Given the description of an element on the screen output the (x, y) to click on. 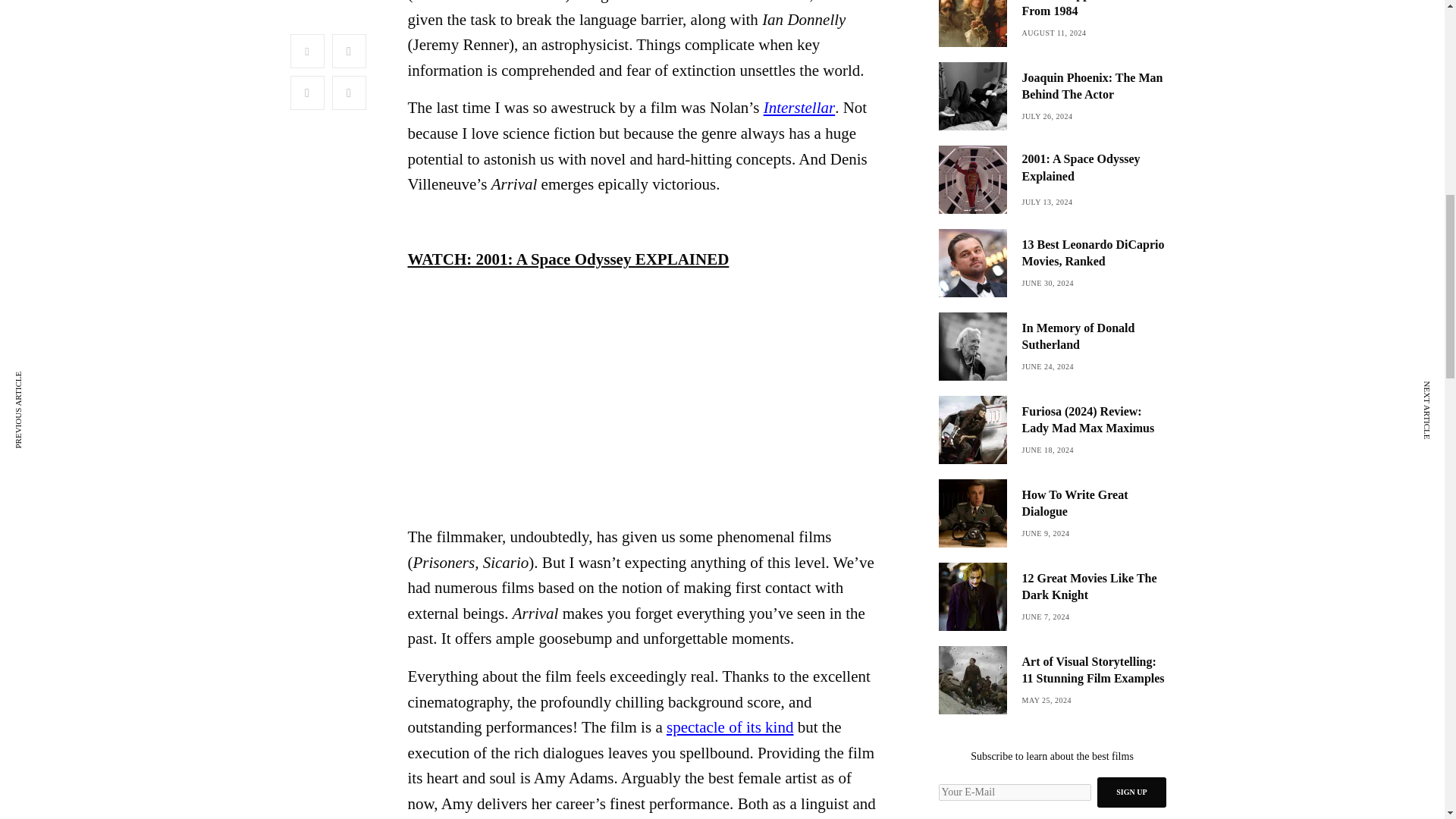
2001: A Space Odyssey Explained (1094, 167)
Joaquin Phoenix: The Man Behind The Actor (1094, 86)
YouTube video player (568, 375)
5 Under-Appreciated Films From 1984 (1094, 10)
13 Best Leonardo DiCaprio Movies, Ranked (1094, 253)
How To Write Great Dialogue (1094, 503)
In Memory of Donald Sutherland (1094, 336)
